Given the description of an element on the screen output the (x, y) to click on. 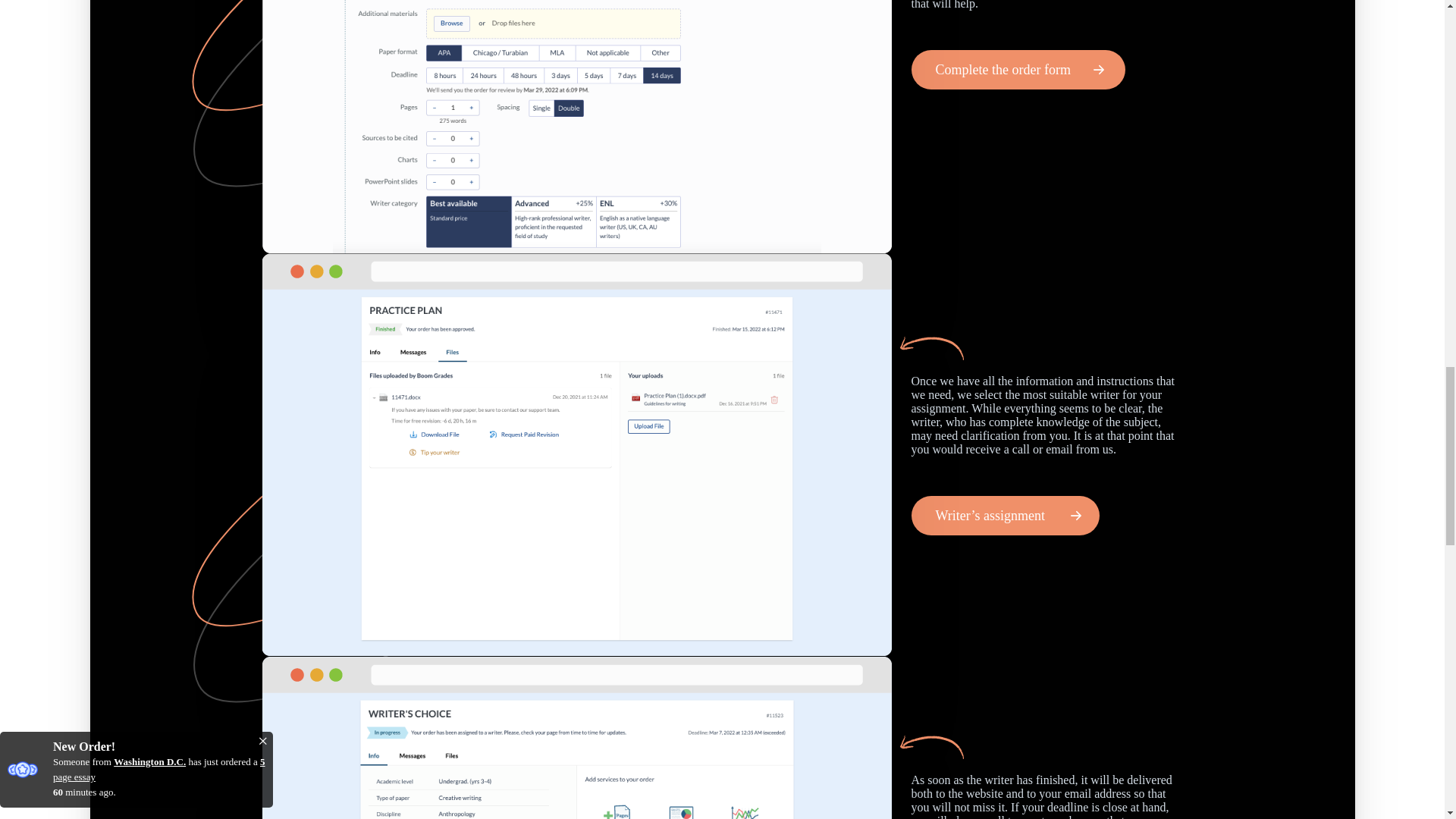
Complete the order form (1018, 69)
